Given the description of an element on the screen output the (x, y) to click on. 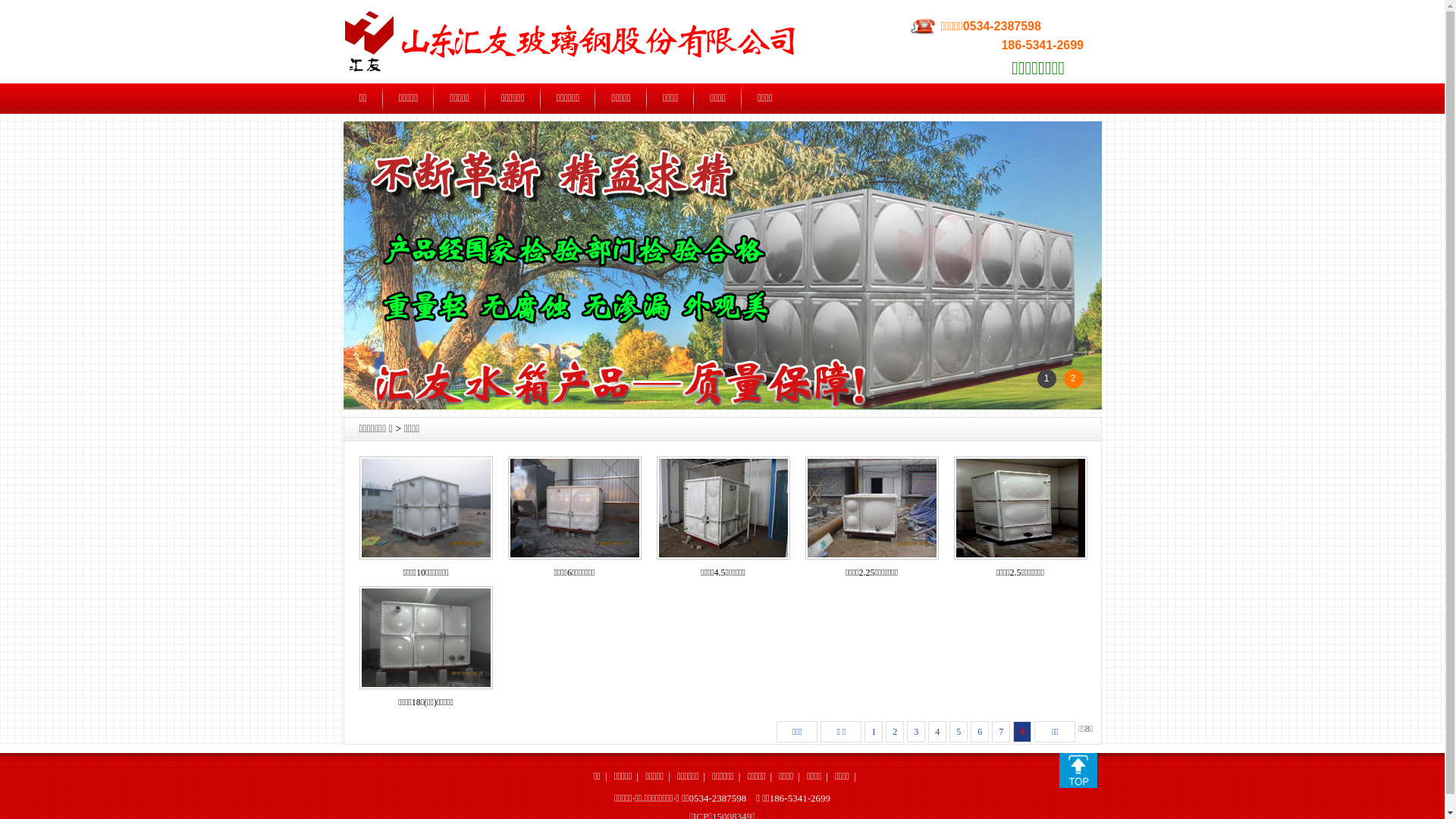
7 Element type: text (1000, 731)
6 Element type: text (979, 731)
5 Element type: text (958, 731)
4 Element type: text (937, 731)
2 Element type: text (894, 731)
3 Element type: text (915, 731)
1 Element type: text (873, 731)
8 Element type: text (1022, 731)
